Given the description of an element on the screen output the (x, y) to click on. 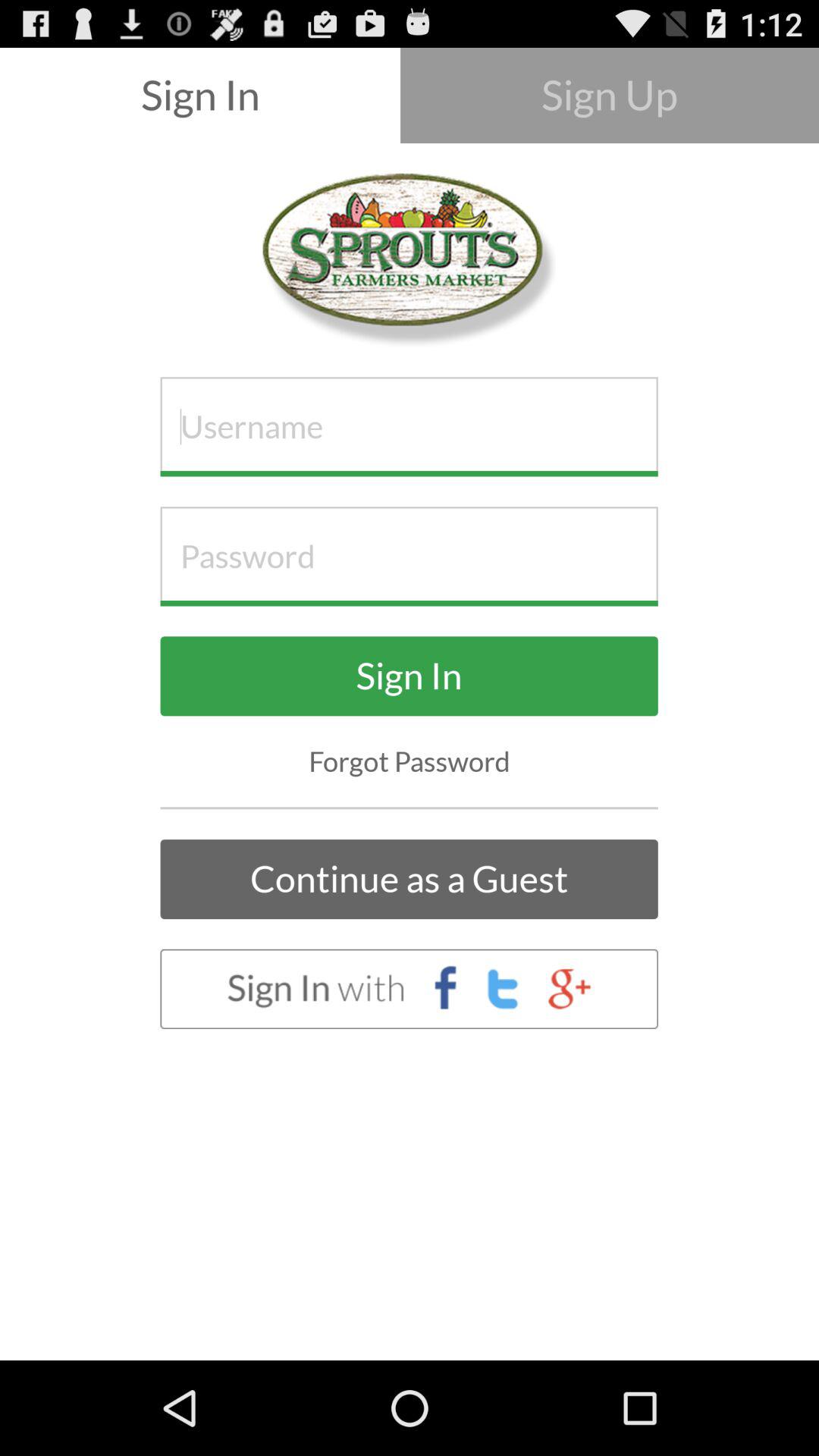
turn on the sign up item (609, 95)
